Given the description of an element on the screen output the (x, y) to click on. 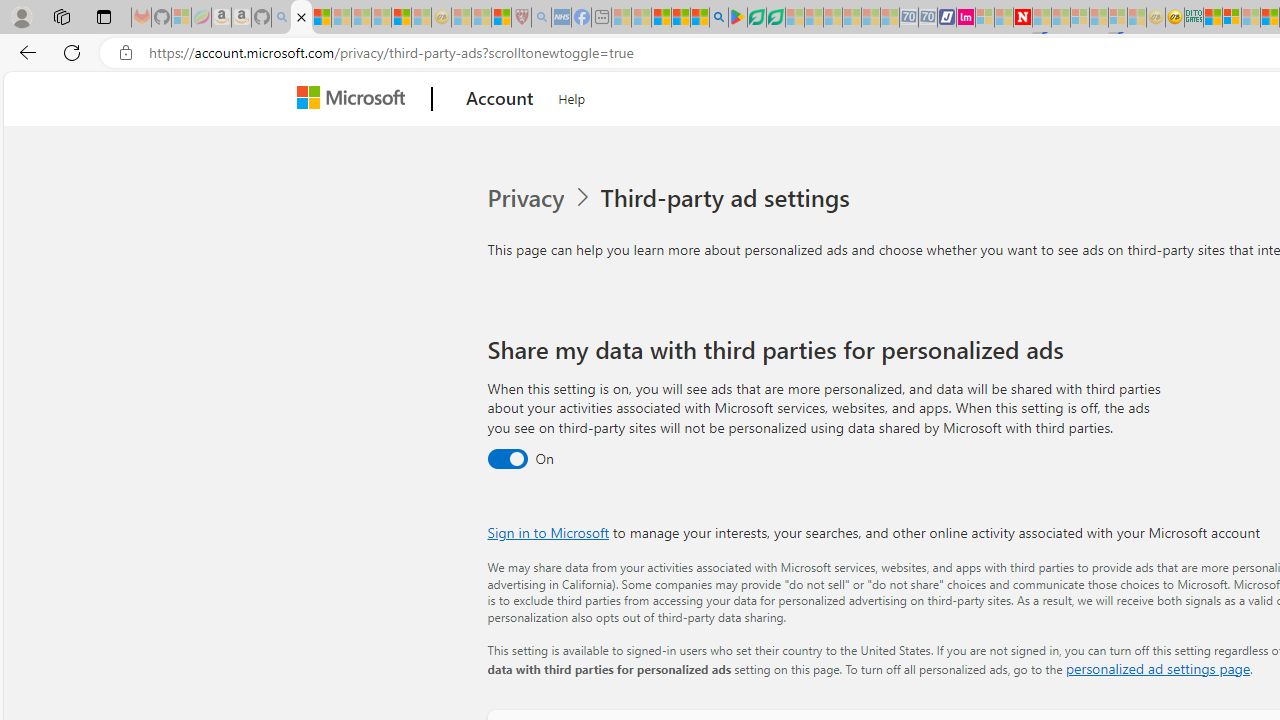
personalized ad settings page (1157, 668)
Account (499, 99)
Microsoft Word - consumer-privacy address update 2.2021 (775, 17)
Terms of Use Agreement (756, 17)
